Given the description of an element on the screen output the (x, y) to click on. 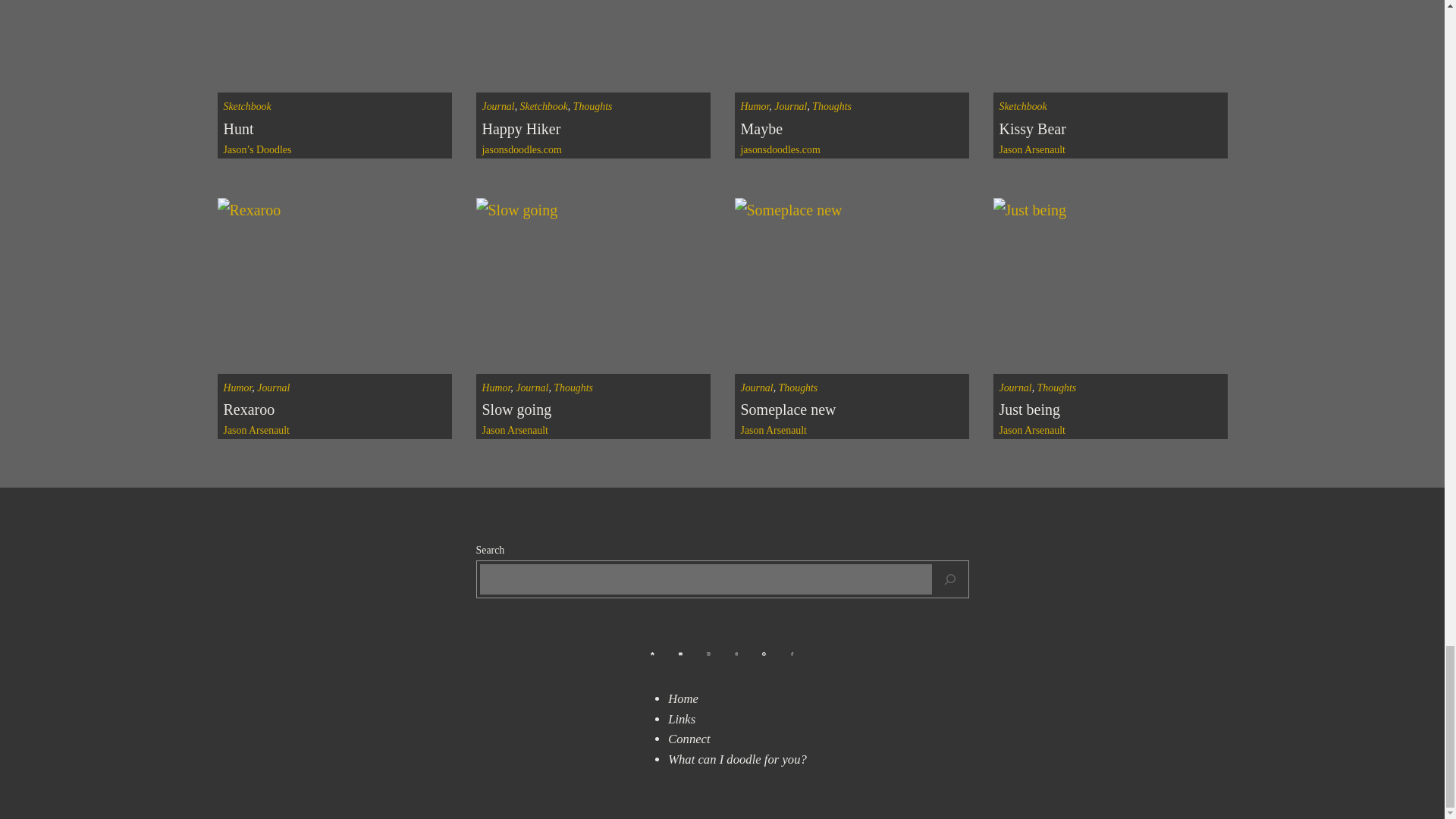
Jason Arsenault (1031, 149)
Thoughts (831, 106)
Humor (753, 106)
Journal (498, 106)
Happy Hiker (520, 128)
Humor (236, 387)
Maybe (761, 128)
Hunt (237, 128)
jasonsdoodles.com (521, 149)
Sketchbook (1022, 106)
Sketchbook (543, 106)
Thoughts (592, 106)
Kissy Bear (1031, 128)
Journal (790, 106)
jasonsdoodles.com (779, 149)
